Given the description of an element on the screen output the (x, y) to click on. 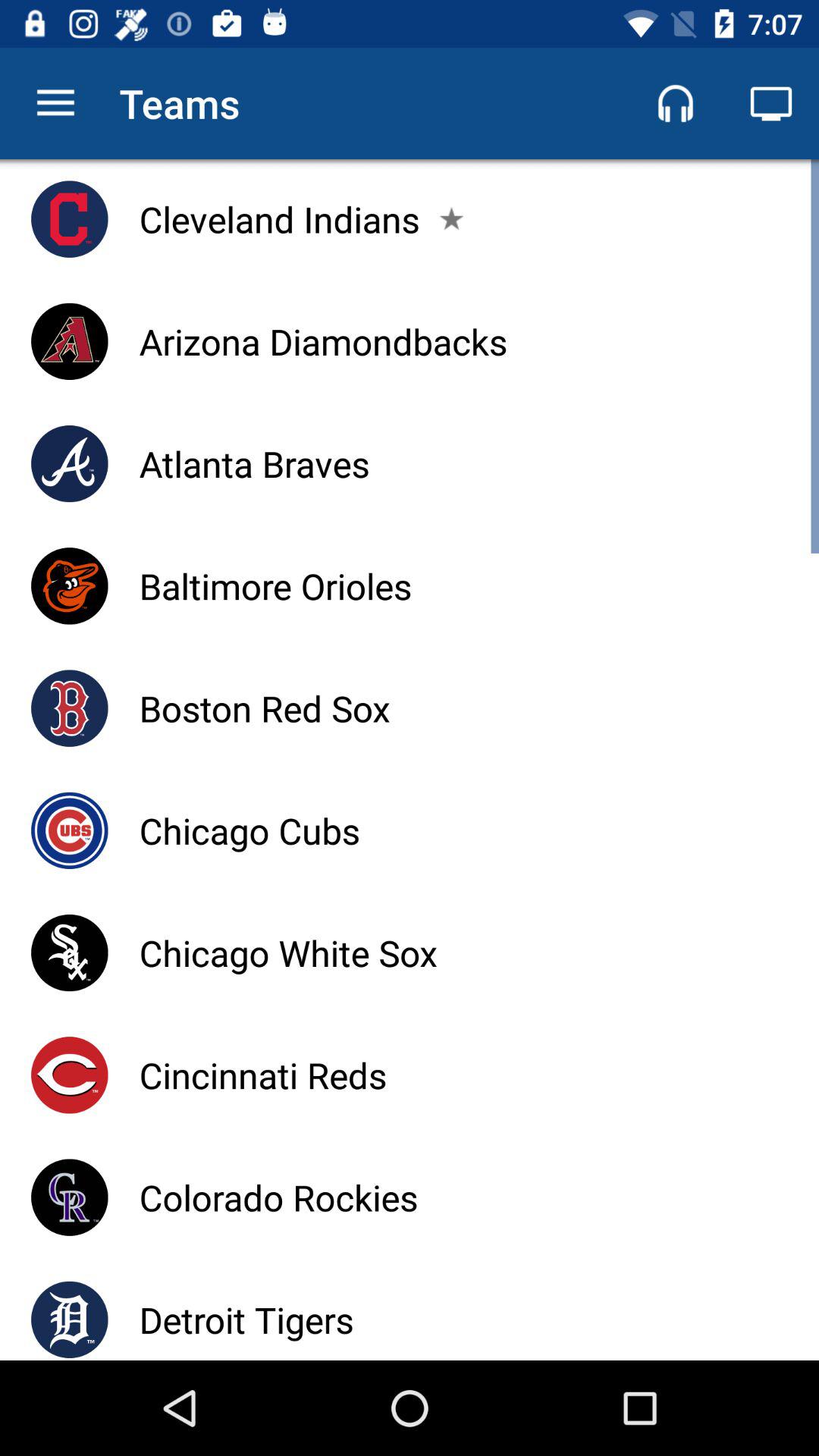
click icon above atlanta braves icon (323, 341)
